Given the description of an element on the screen output the (x, y) to click on. 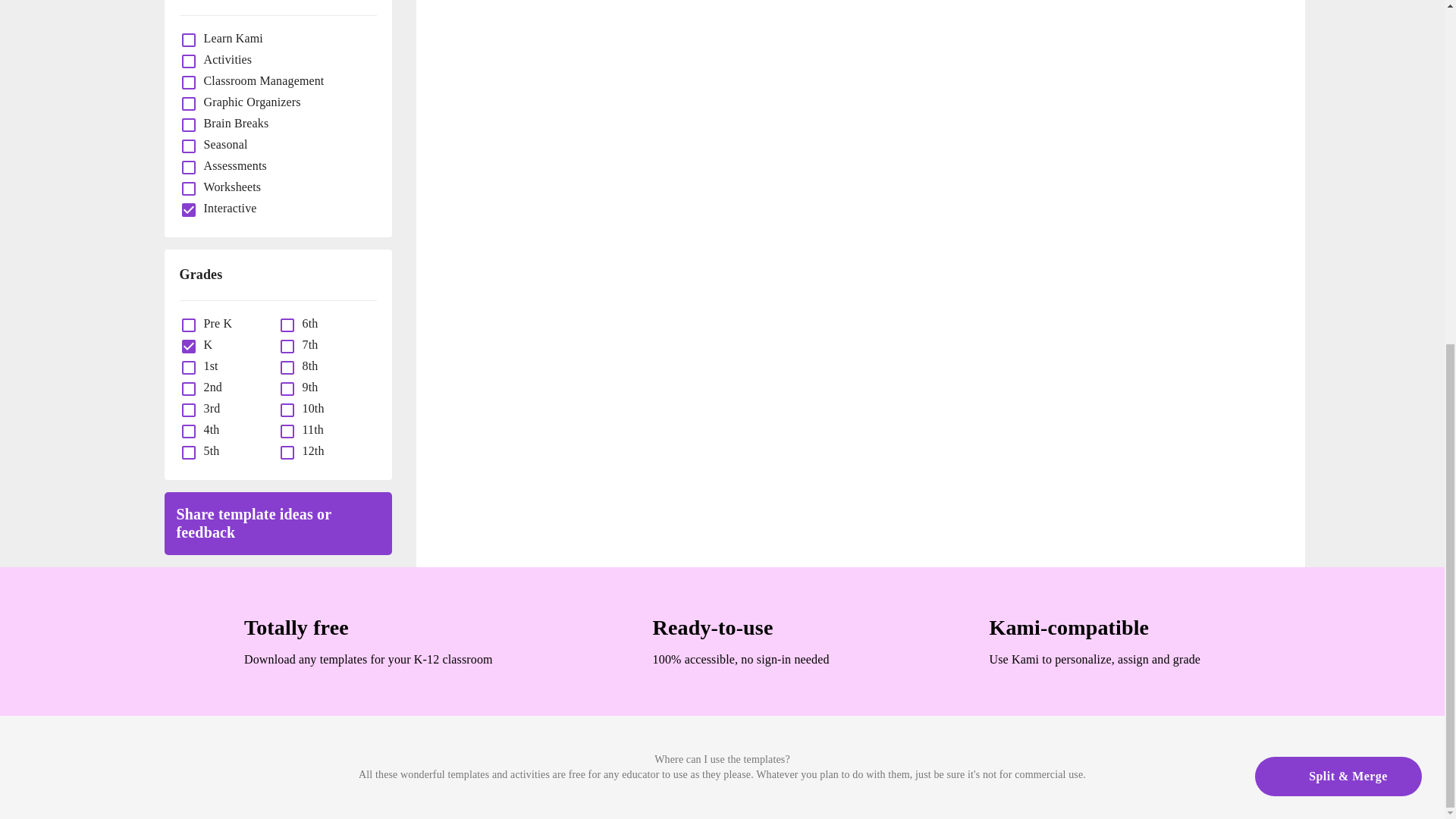
Brain Breaks (231, 123)
3rd (207, 408)
Graphic Organizers (247, 102)
4th (207, 429)
Seasonal (221, 144)
10th (309, 408)
8th (306, 365)
11th (309, 429)
Worksheets (228, 186)
2nd (208, 387)
